Given the description of an element on the screen output the (x, y) to click on. 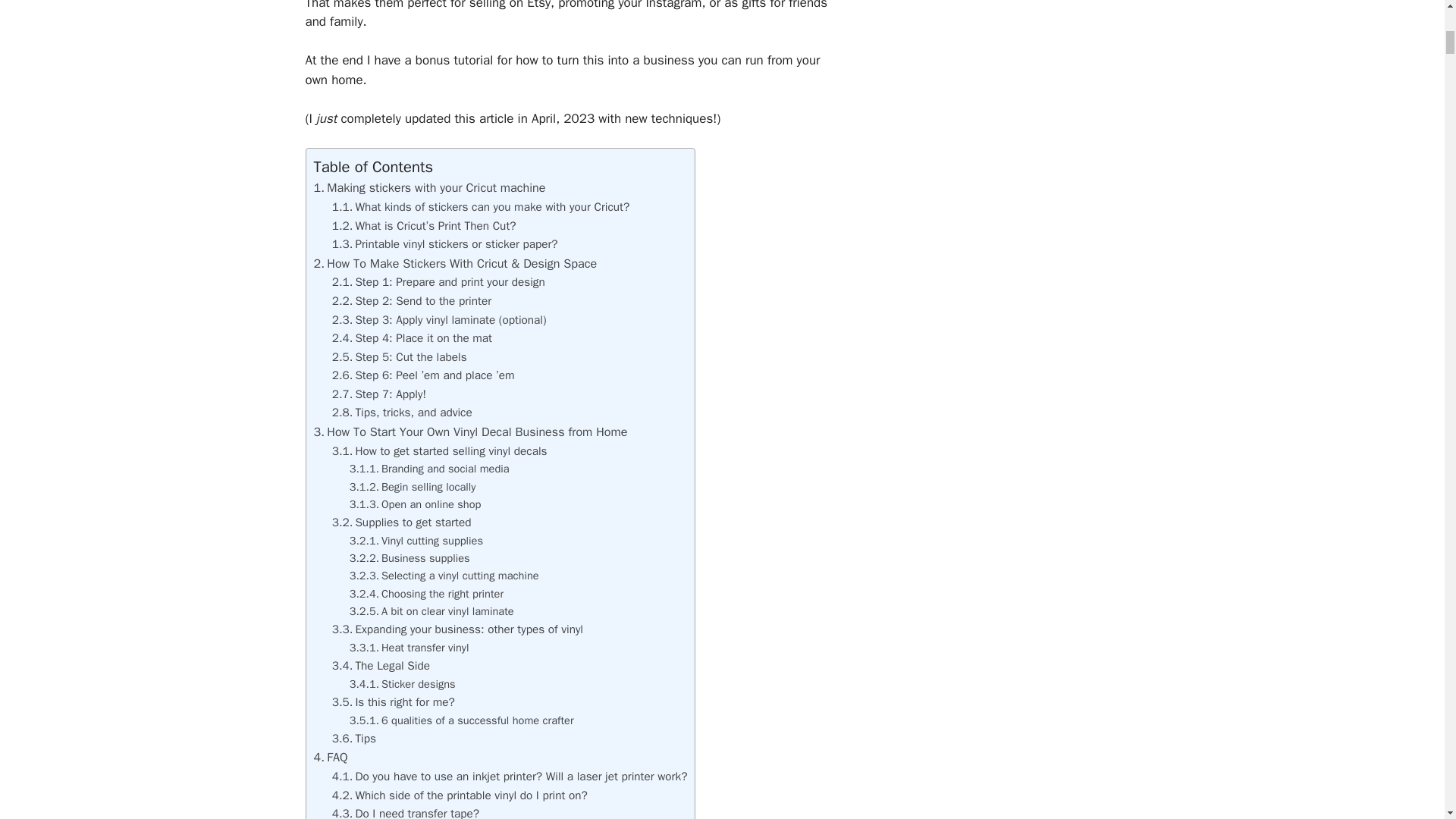
Step 4: Place it on the mat (411, 337)
Step 2: Send to the printer (411, 300)
Step 5: Cut the labels (399, 356)
Step 1: Prepare and print your design (437, 281)
Printable vinyl stickers or sticker paper? (444, 243)
What kinds of stickers can you make with your Cricut? (480, 206)
Making stickers with your Cricut machine (430, 187)
